Given the description of an element on the screen output the (x, y) to click on. 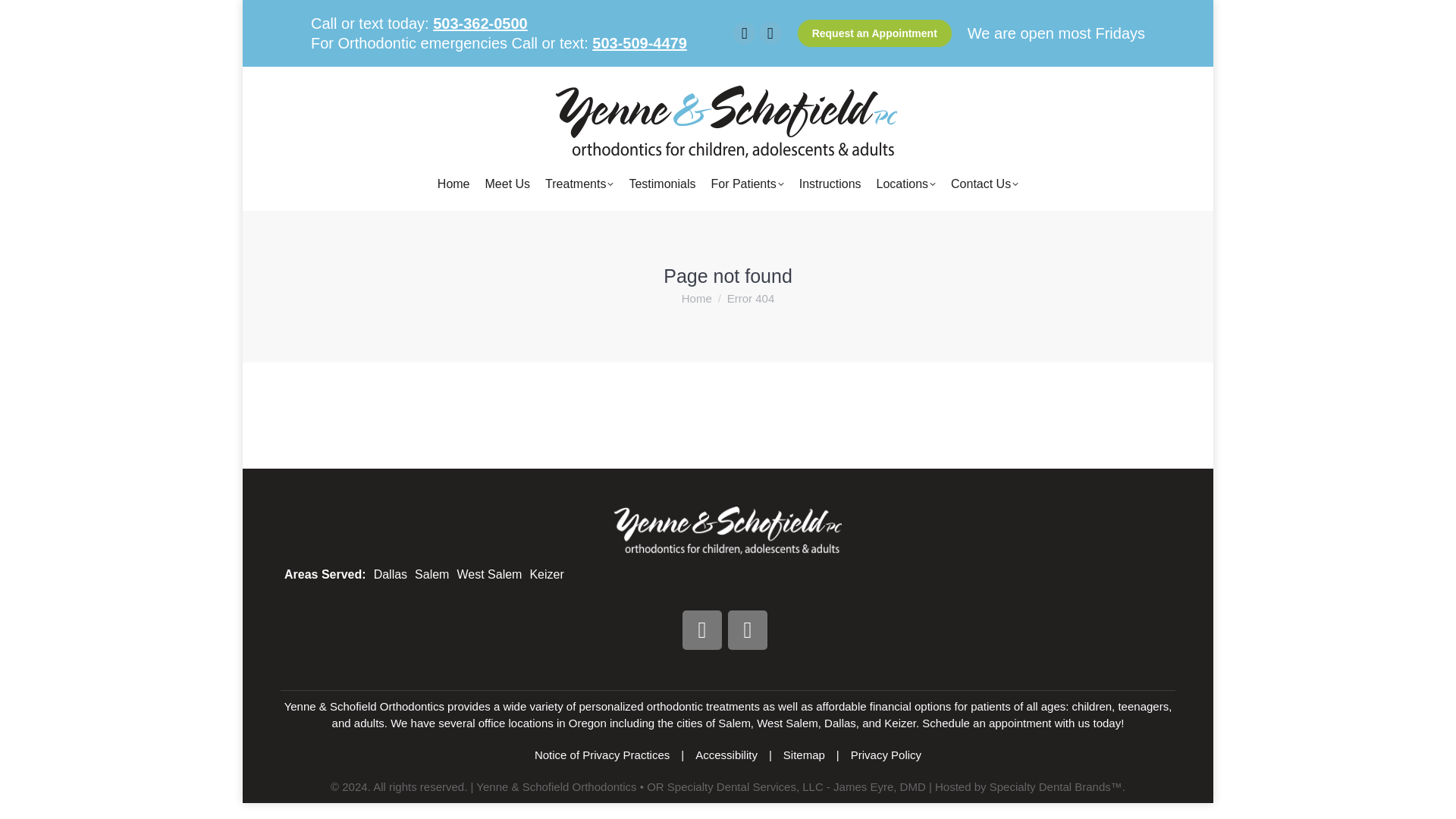
Facebook page opens in new window (744, 33)
Home (453, 183)
Instagram page opens in new window (769, 33)
Request an Appointment (874, 32)
Instagram page opens in new window (769, 33)
Meet Us (507, 183)
Home (696, 297)
For Patients (746, 183)
Treatments (579, 183)
503-509-4479 (639, 43)
Testimonials (661, 183)
503-362-0500 (479, 23)
Instagram (747, 630)
Facebook page opens in new window (744, 33)
Facebook (702, 630)
